Given the description of an element on the screen output the (x, y) to click on. 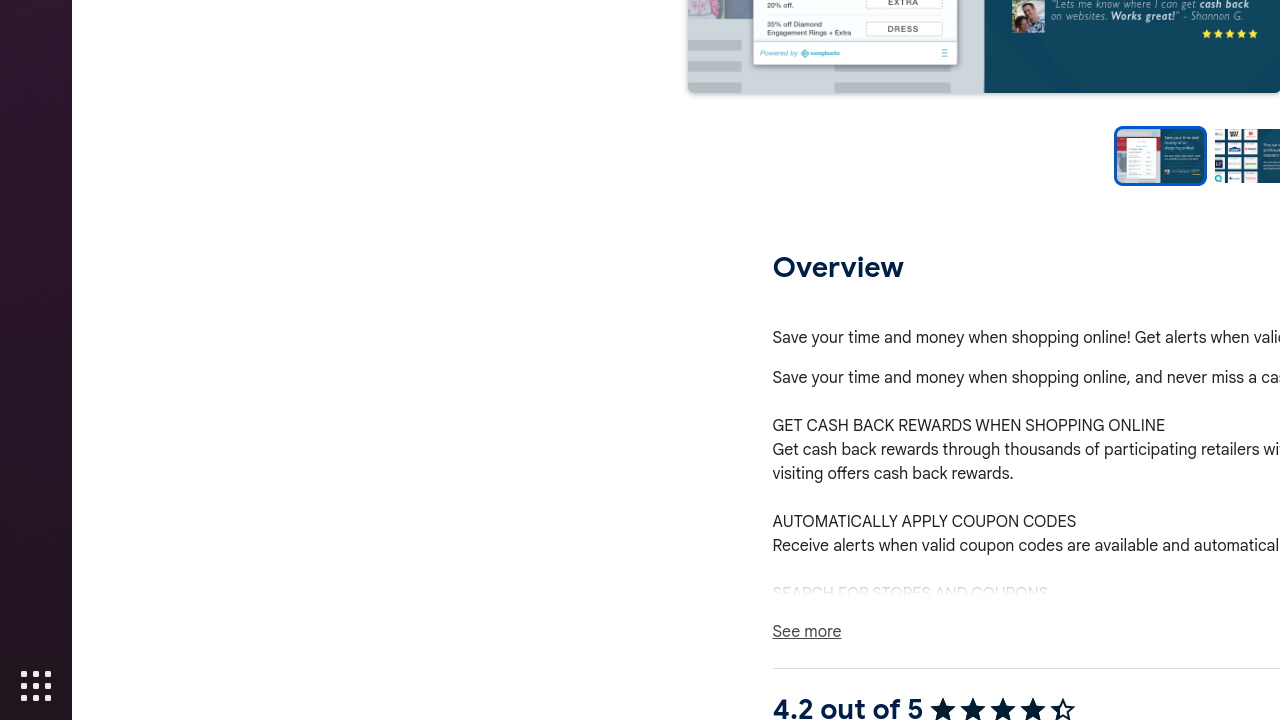
Show Applications Element type: toggle-button (36, 686)
Preview slide 1 Element type: push-button (1160, 156)
